Given the description of an element on the screen output the (x, y) to click on. 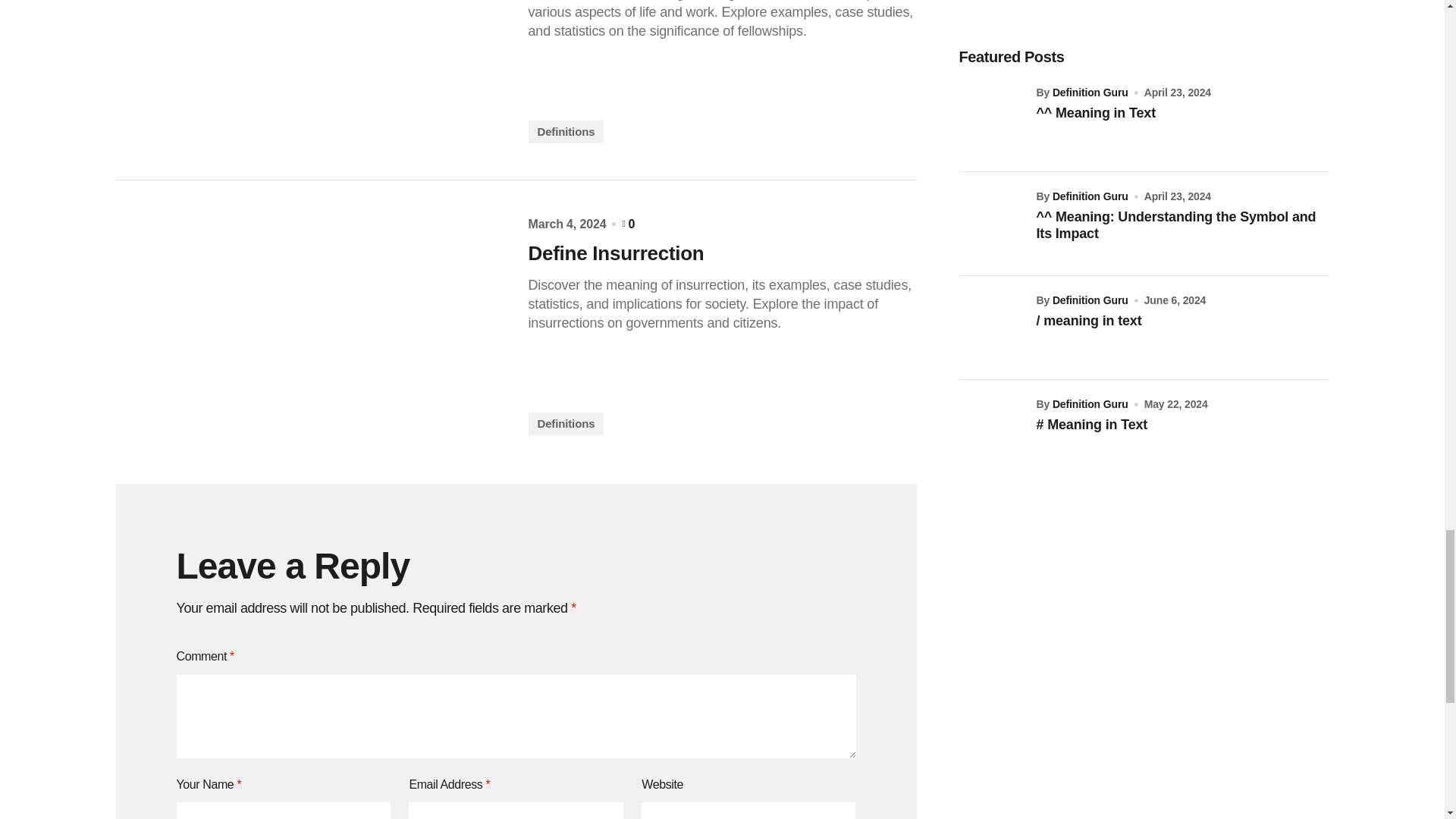
Define Insurrection (721, 253)
0 (627, 223)
Define Insurrection (309, 325)
Define Fellow (309, 71)
Definitions (565, 423)
Definitions (565, 130)
